Given the description of an element on the screen output the (x, y) to click on. 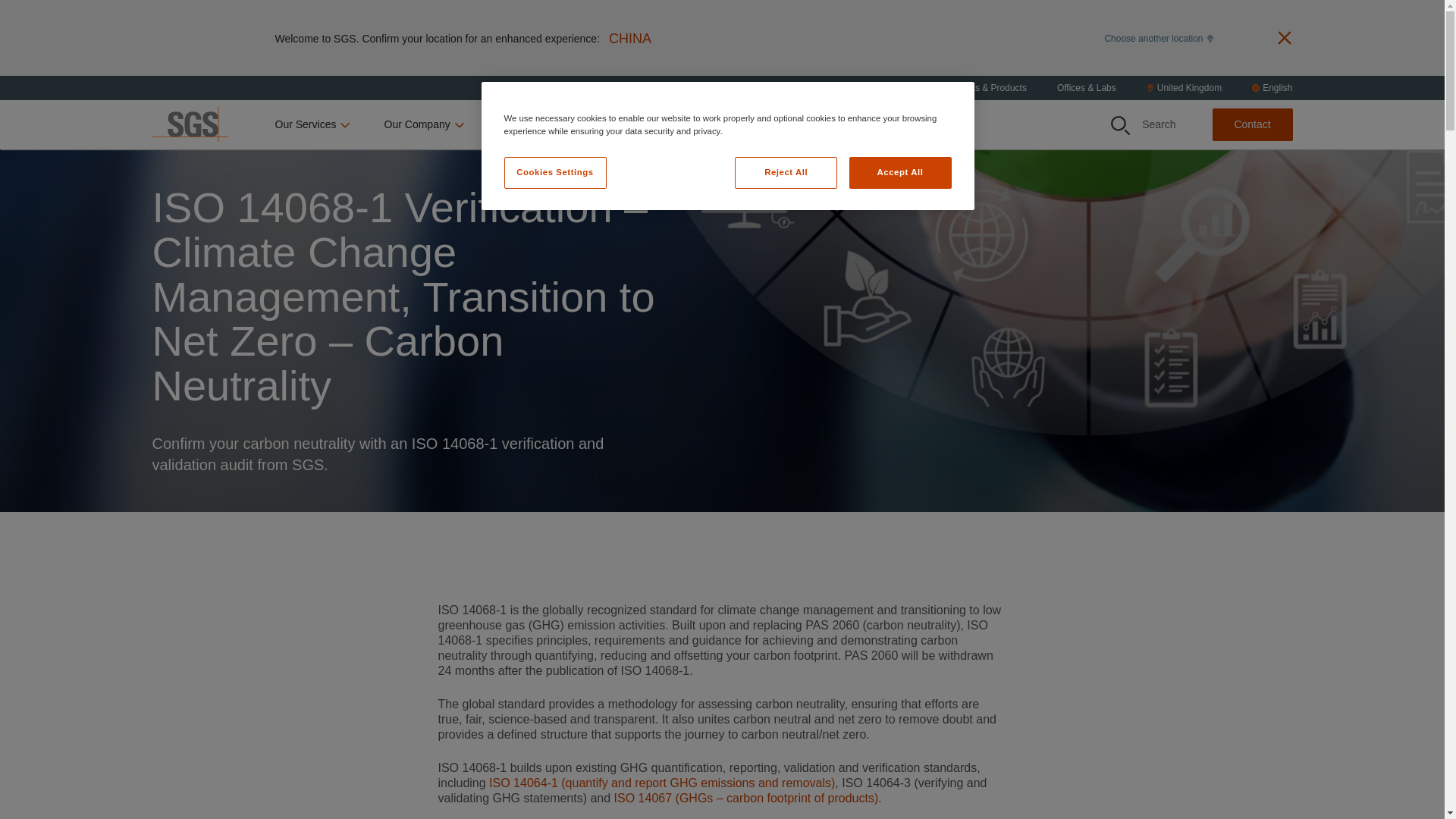
Search (1143, 124)
Our Company (424, 124)
Investors (637, 124)
Media (713, 124)
Choose another location (1157, 37)
Sustainability (536, 124)
CHINA (629, 38)
SGS (189, 124)
Search (1119, 125)
Our Services (313, 124)
Leadoo chatbot launcher (1407, 782)
Contact (1251, 124)
United Kingdom (1184, 87)
